Given the description of an element on the screen output the (x, y) to click on. 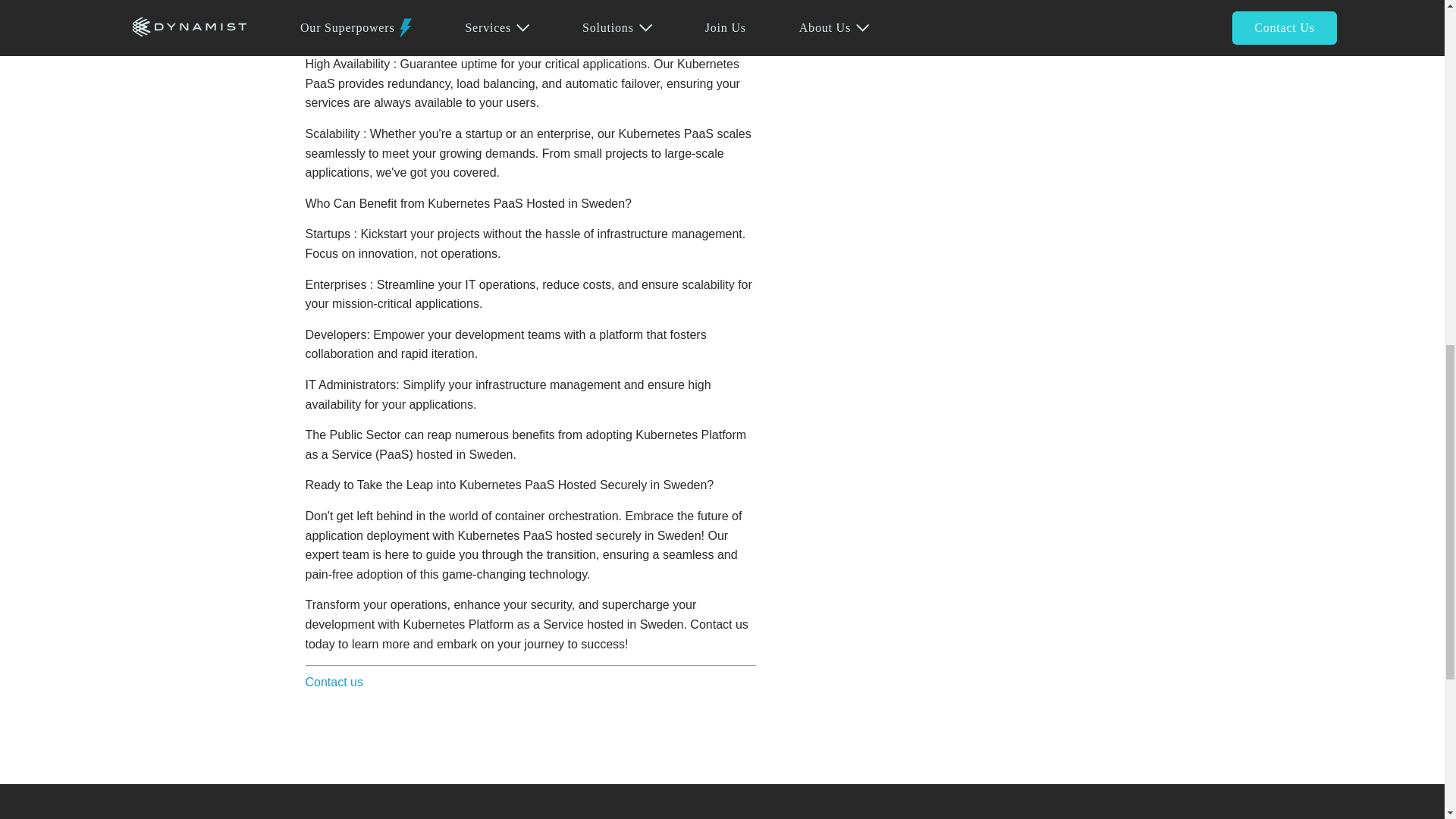
Contact us (333, 681)
